Given the description of an element on the screen output the (x, y) to click on. 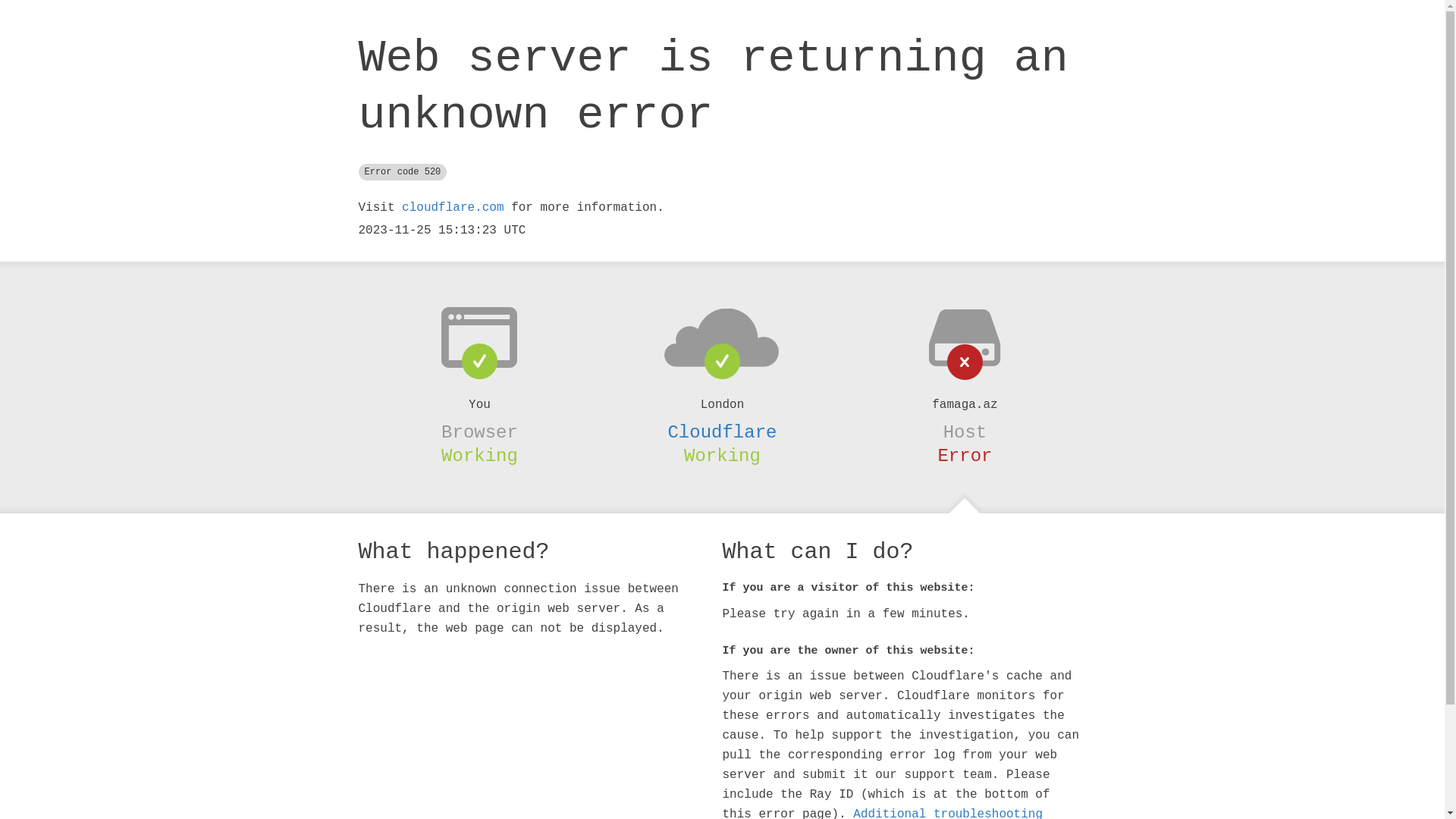
Cloudflare Element type: text (721, 432)
cloudflare.com Element type: text (452, 207)
